Given the description of an element on the screen output the (x, y) to click on. 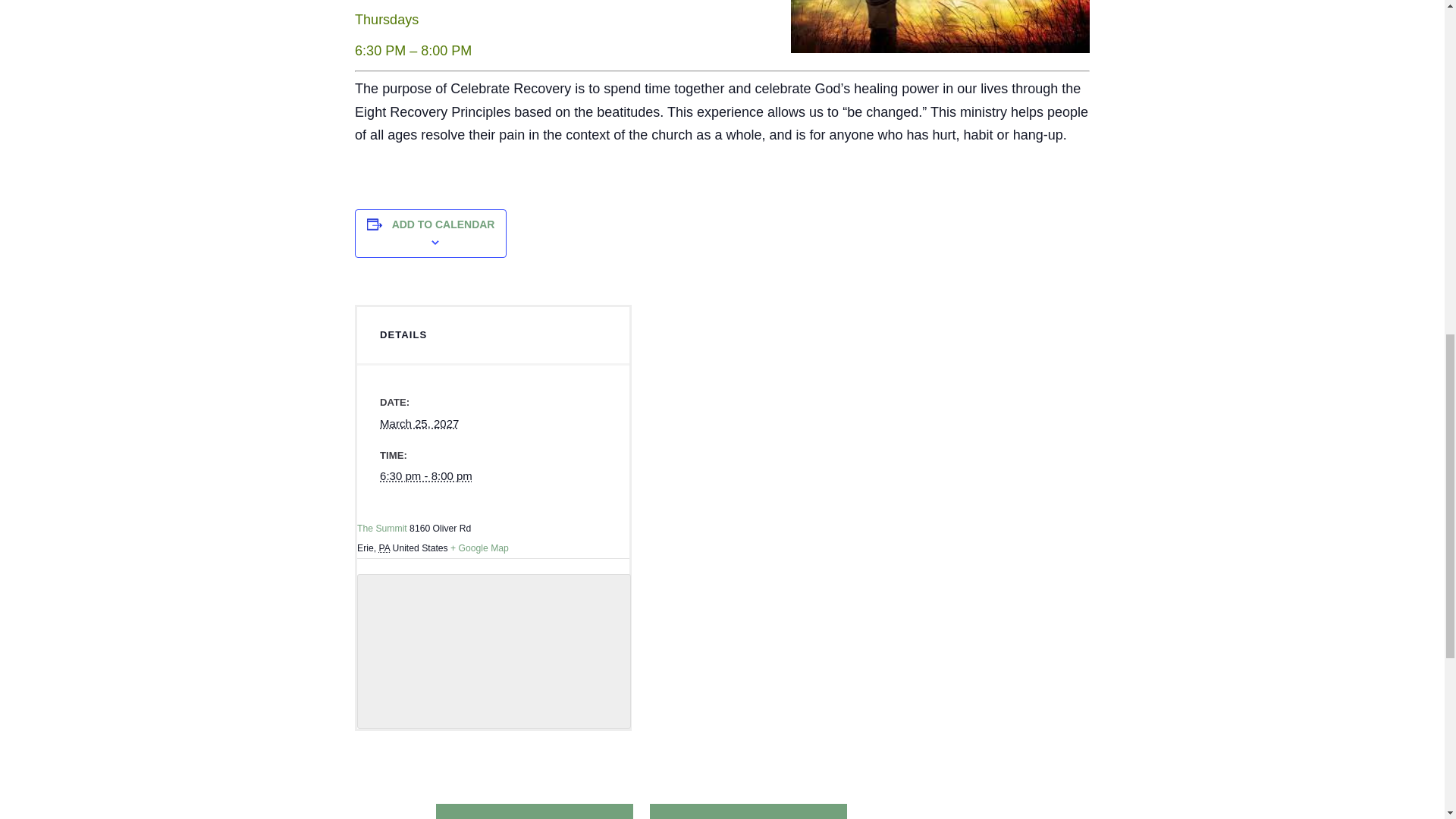
Google maps iframe displaying the address to The Summit (493, 651)
Click to view a Google Map (478, 547)
